Given the description of an element on the screen output the (x, y) to click on. 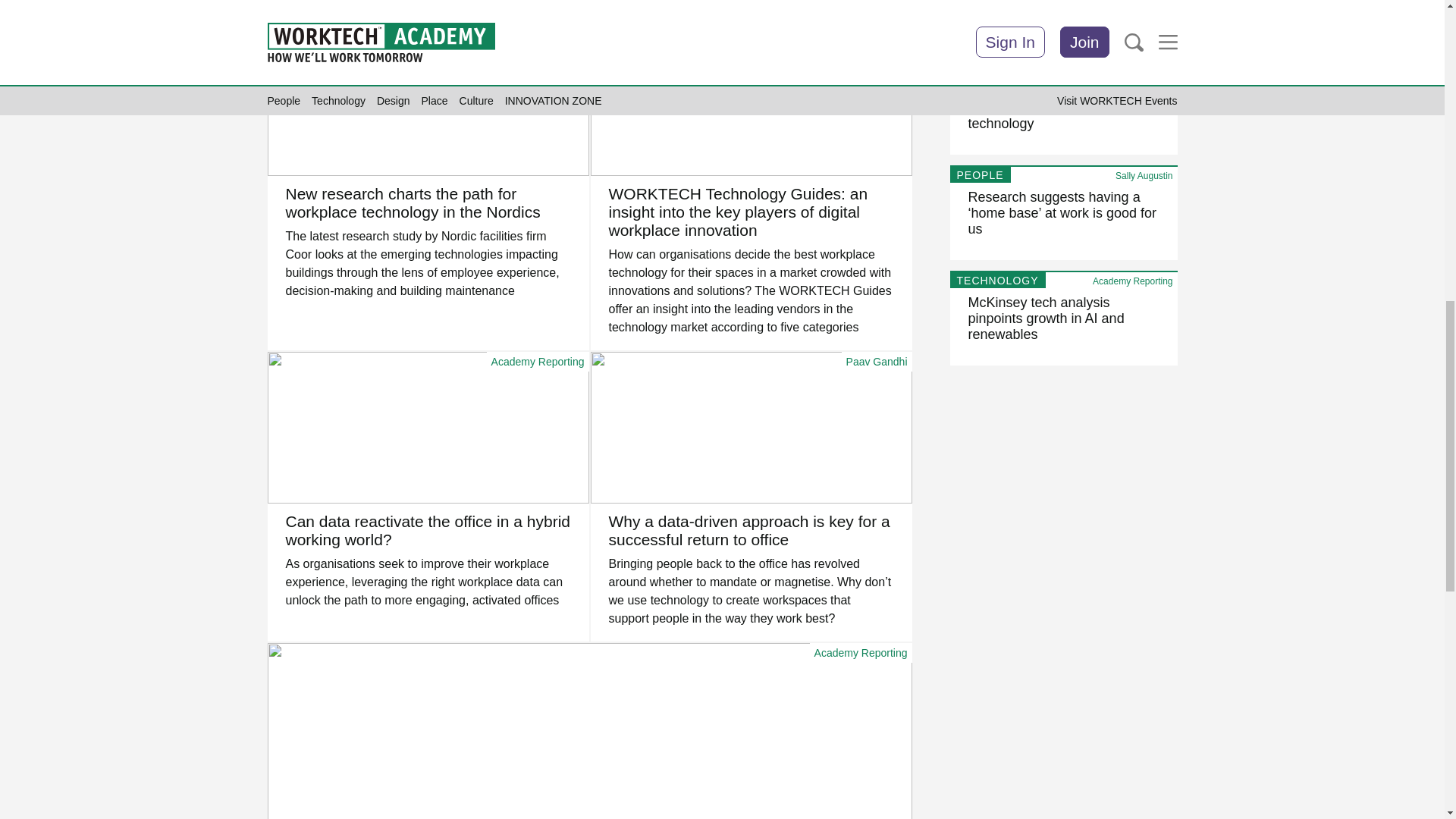
Posts by Paav Gandhi (876, 361)
Posts by Academy Reporting (860, 653)
Posts by Academy Reporting (538, 361)
Posts by Academy Reporting (860, 33)
Posts by Academy Reporting (538, 33)
